Given the description of an element on the screen output the (x, y) to click on. 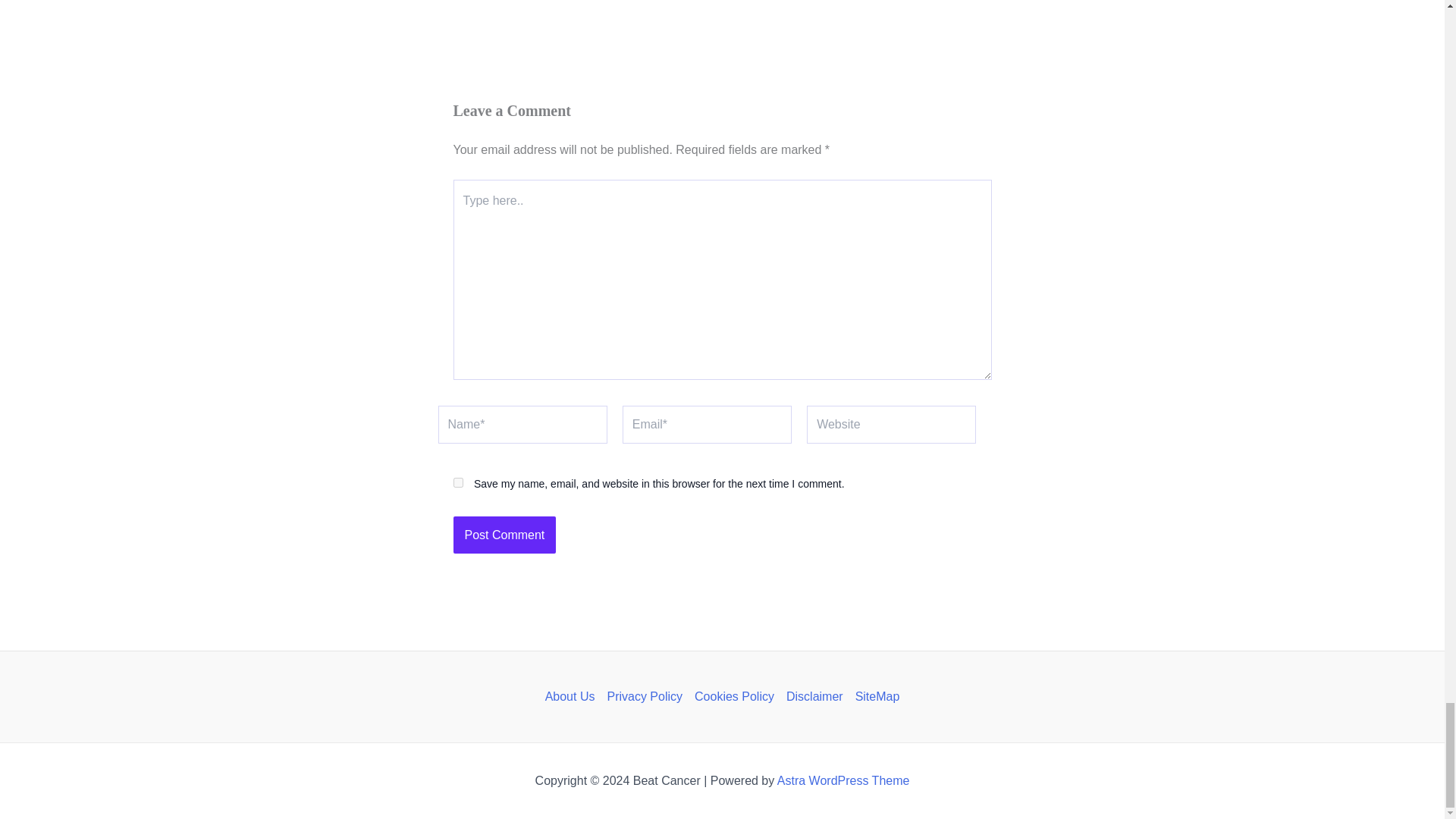
yes (457, 482)
Disclaimer (814, 696)
Post Comment (504, 535)
Post Comment (504, 535)
About Us (572, 696)
Privacy Policy (643, 696)
Cookies Policy (734, 696)
